Given the description of an element on the screen output the (x, y) to click on. 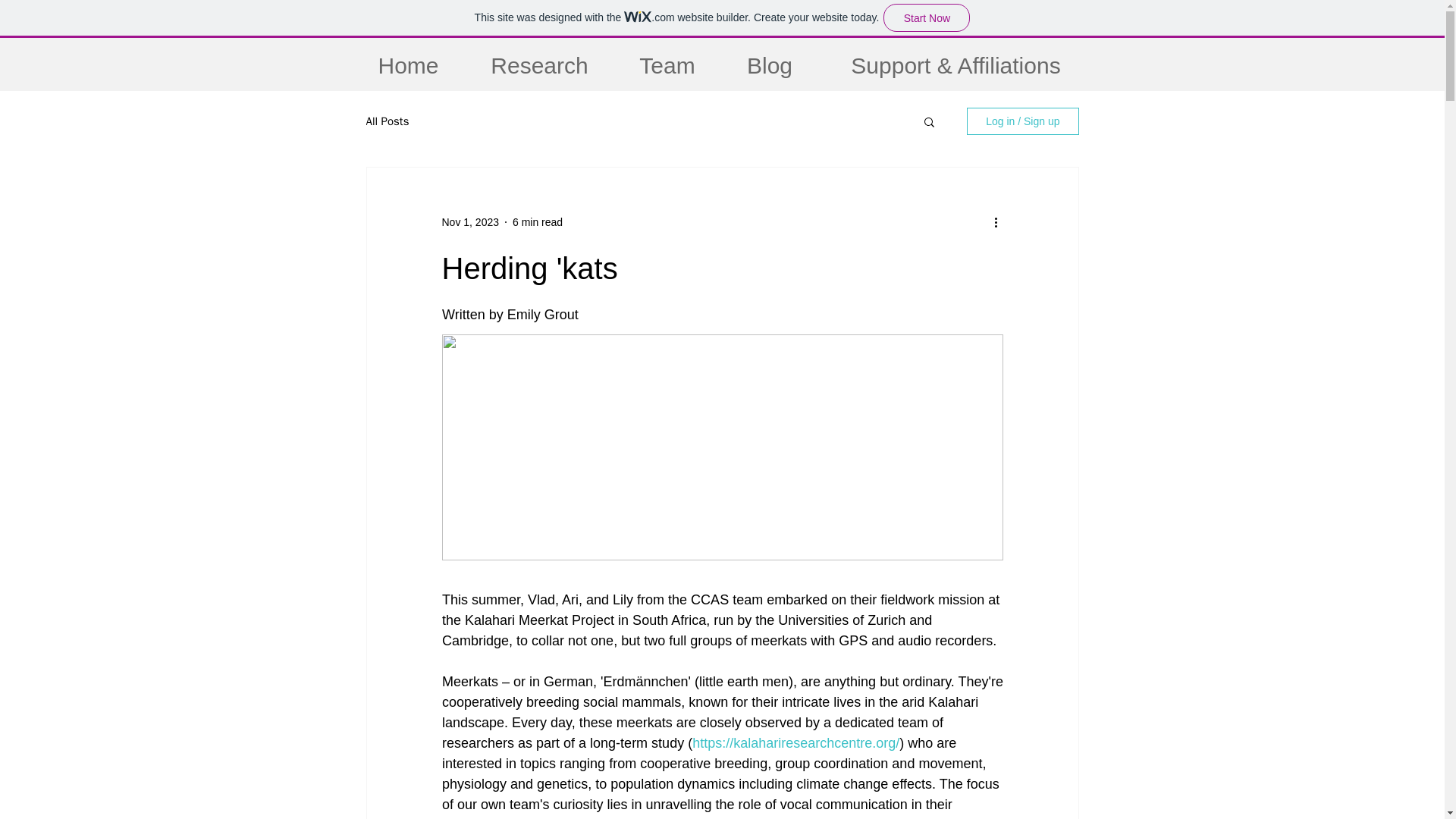
6 min read (537, 221)
Home (407, 65)
All Posts (387, 120)
Nov 1, 2023 (470, 221)
Blog (770, 65)
Research (538, 65)
Team (666, 65)
